Given the description of an element on the screen output the (x, y) to click on. 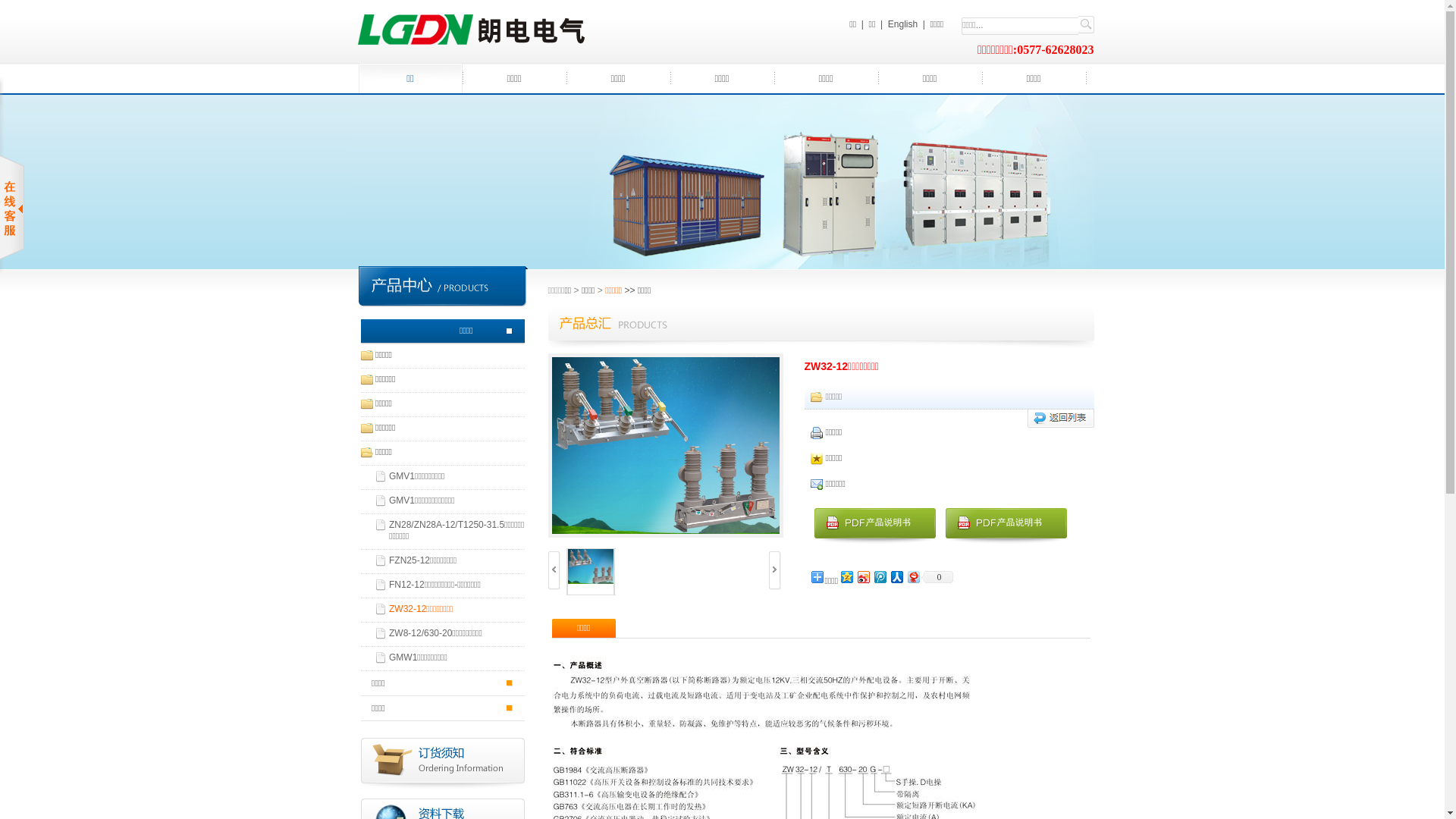
English Element type: text (902, 23)
0 Element type: text (937, 577)
